Given the description of an element on the screen output the (x, y) to click on. 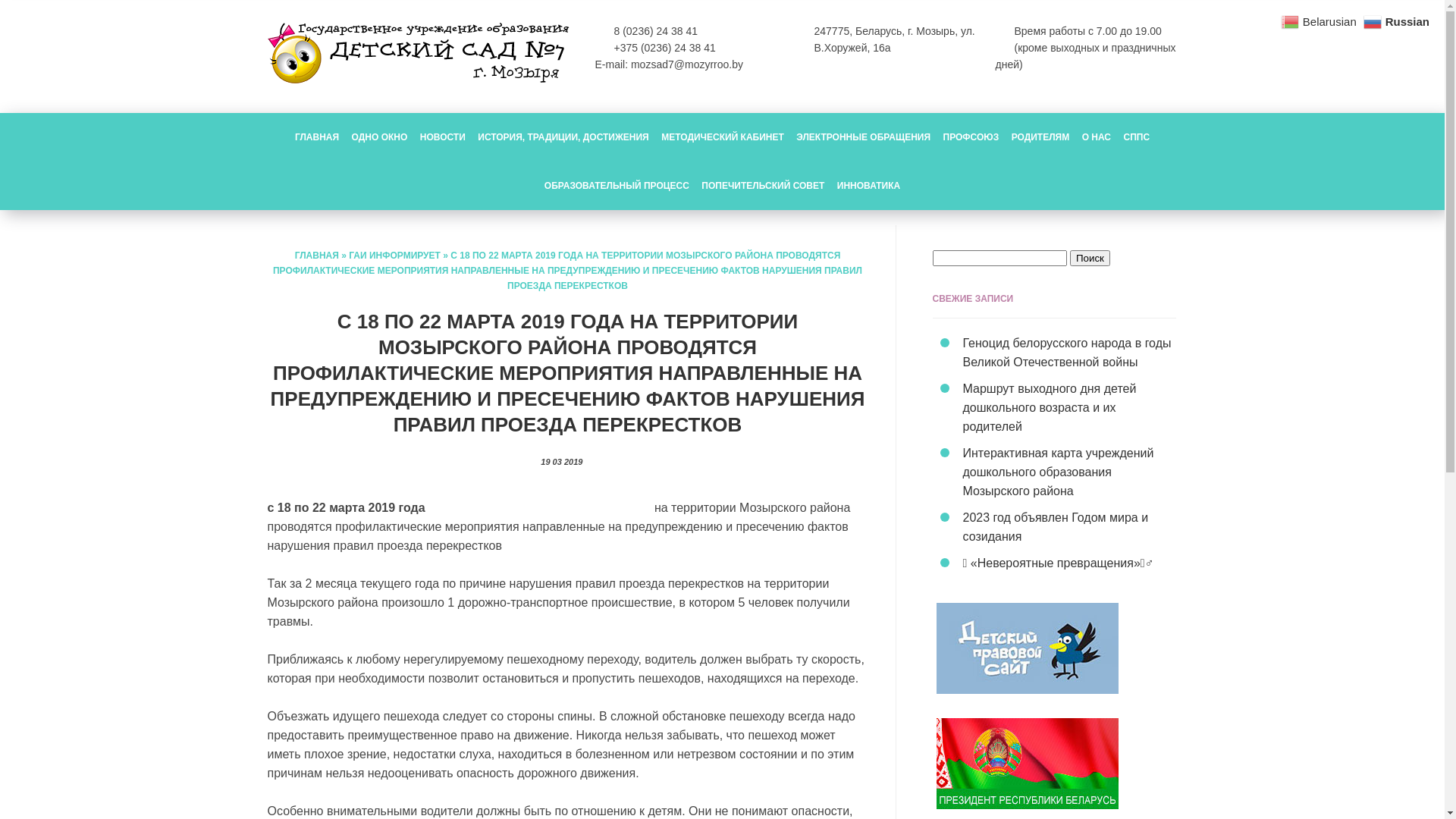
Belarusian Element type: text (1319, 20)
Russian Element type: text (1398, 20)
